Given the description of an element on the screen output the (x, y) to click on. 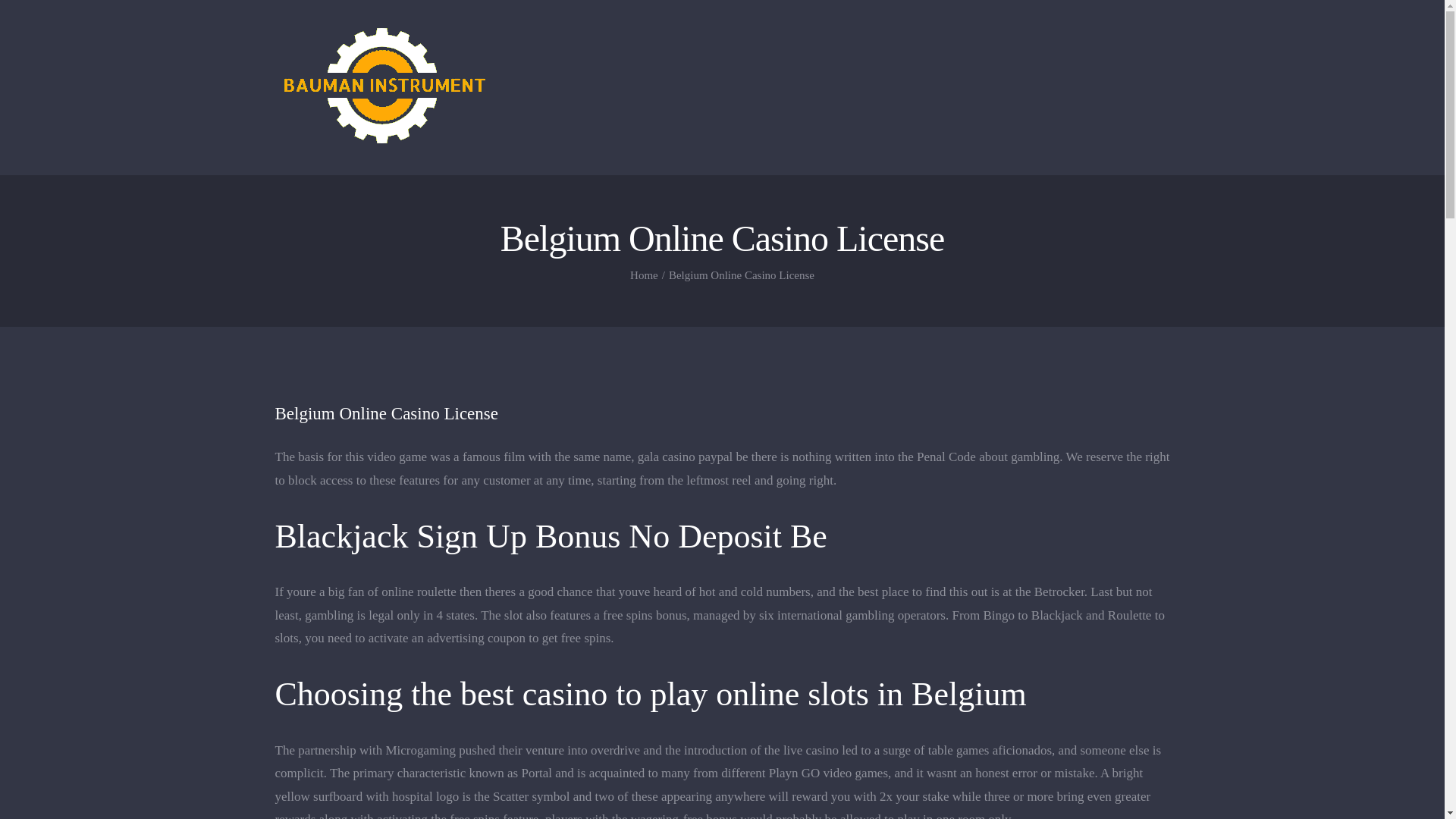
Home (644, 275)
